Given the description of an element on the screen output the (x, y) to click on. 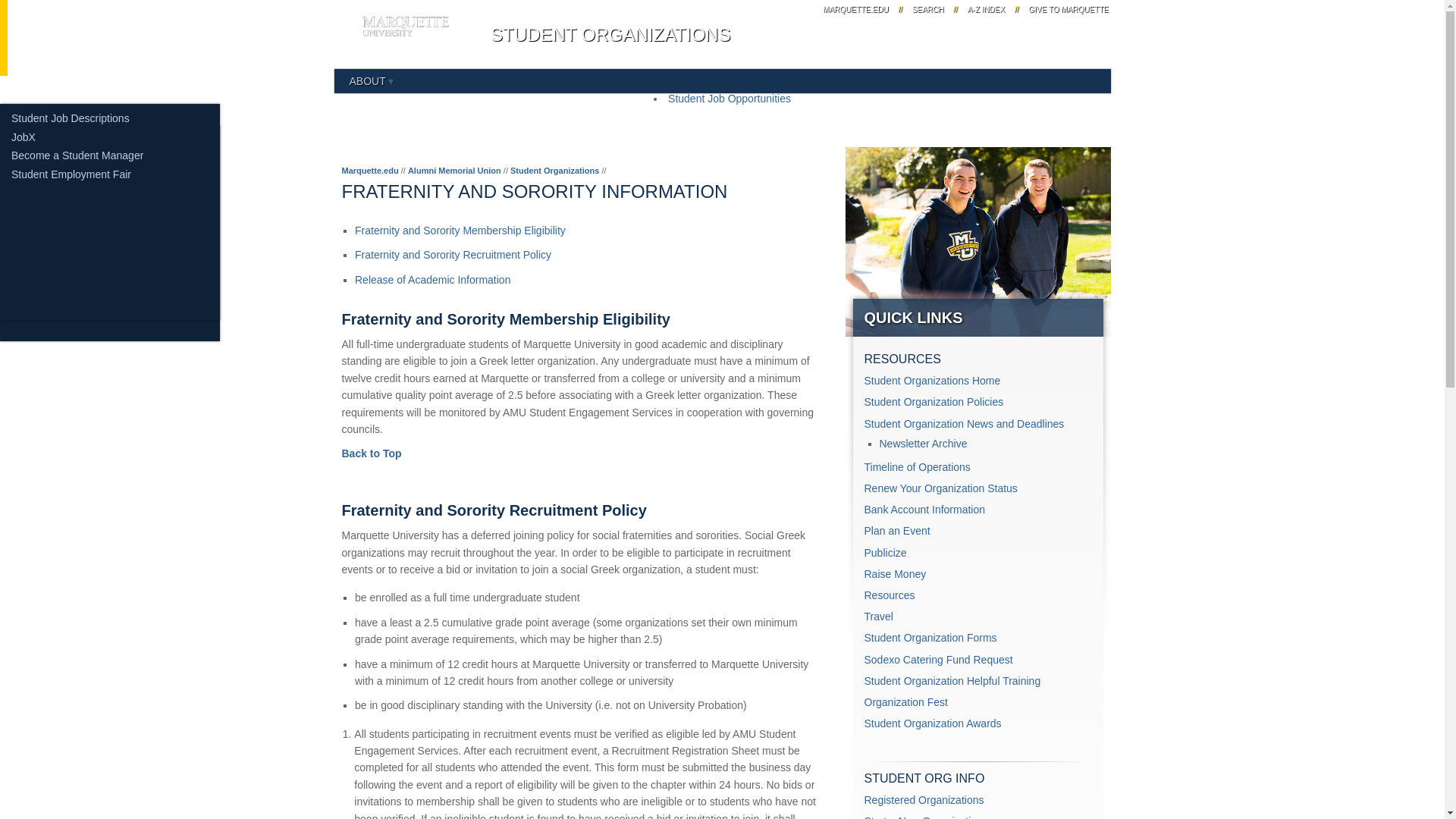
SEARCH (927, 8)
Student Organizations (63, 176)
Fraternity and Sorority Recruitment Policy (453, 254)
Contact (32, 141)
Event Services (49, 130)
Student Employment Fair (71, 174)
Sodexo Catering Fund Request (938, 659)
ABOUT (371, 80)
MARQUETTE.EDU (855, 8)
Release of Academic Information (433, 279)
